Given the description of an element on the screen output the (x, y) to click on. 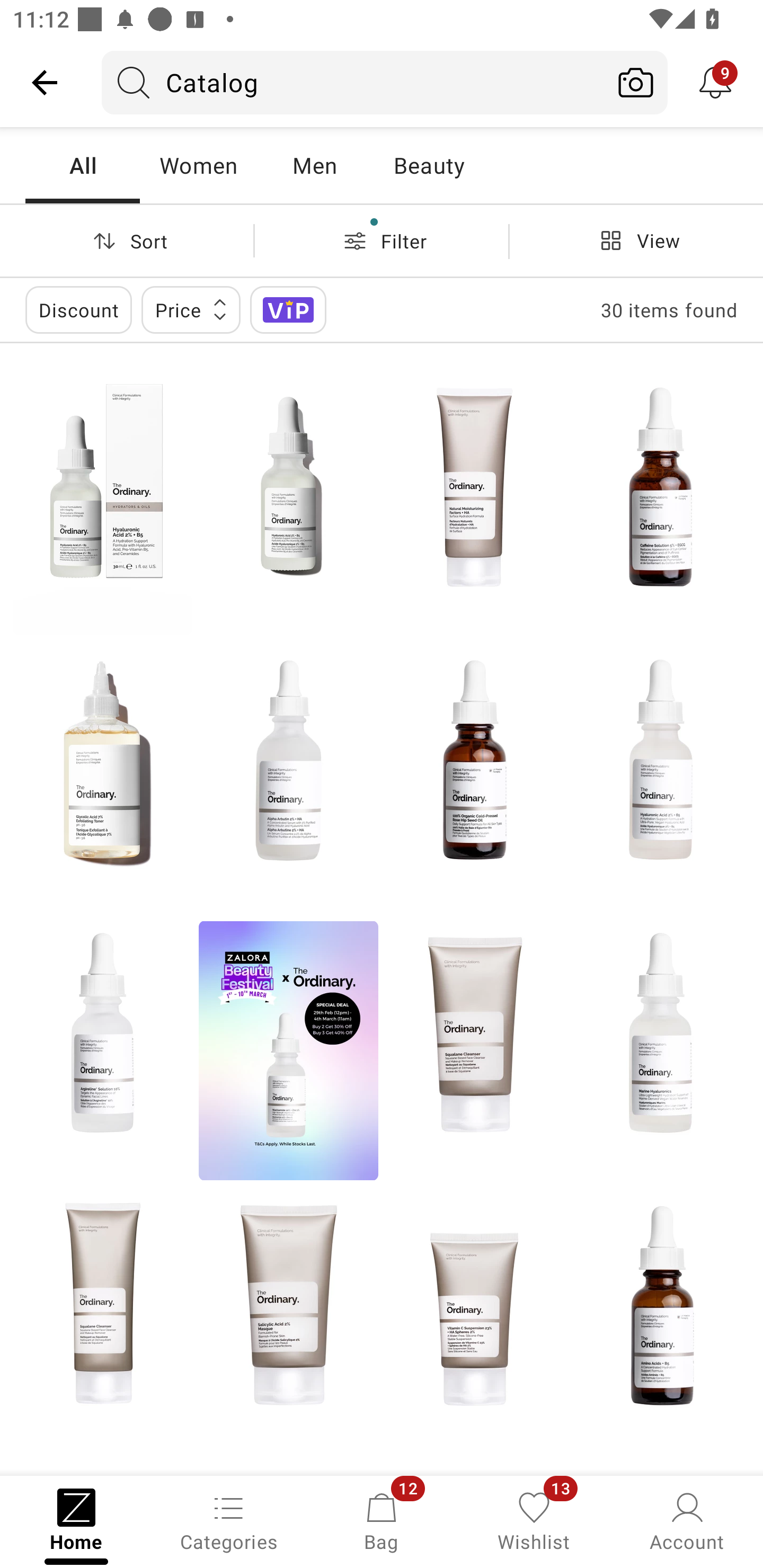
Navigate up (44, 82)
Catalog (352, 82)
Women (198, 165)
Men (314, 165)
Beauty (428, 165)
Sort (126, 240)
Filter (381, 240)
View (636, 240)
Discount (78, 309)
Price (190, 309)
Categories (228, 1519)
Bag, 12 new notifications Bag (381, 1519)
Wishlist, 13 new notifications Wishlist (533, 1519)
Account (686, 1519)
